Given the description of an element on the screen output the (x, y) to click on. 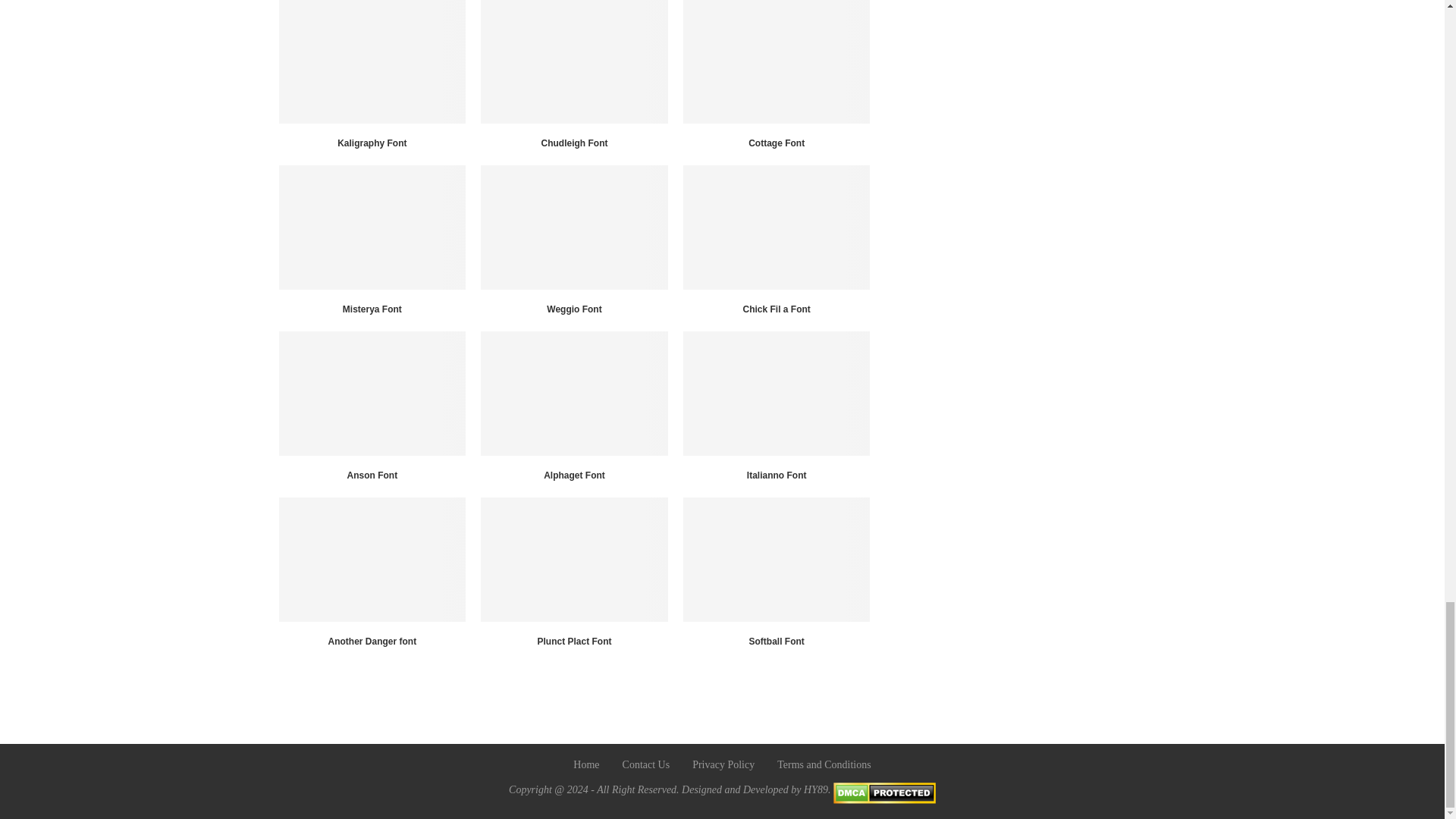
Cottage Font (776, 61)
Misterya Font (372, 226)
Anson Font (372, 393)
Kaligraphy Font (372, 61)
Alphaget Font (574, 393)
Weggio Font (574, 226)
Chudleigh Font (574, 61)
Chick Fil a Font (776, 226)
